Given the description of an element on the screen output the (x, y) to click on. 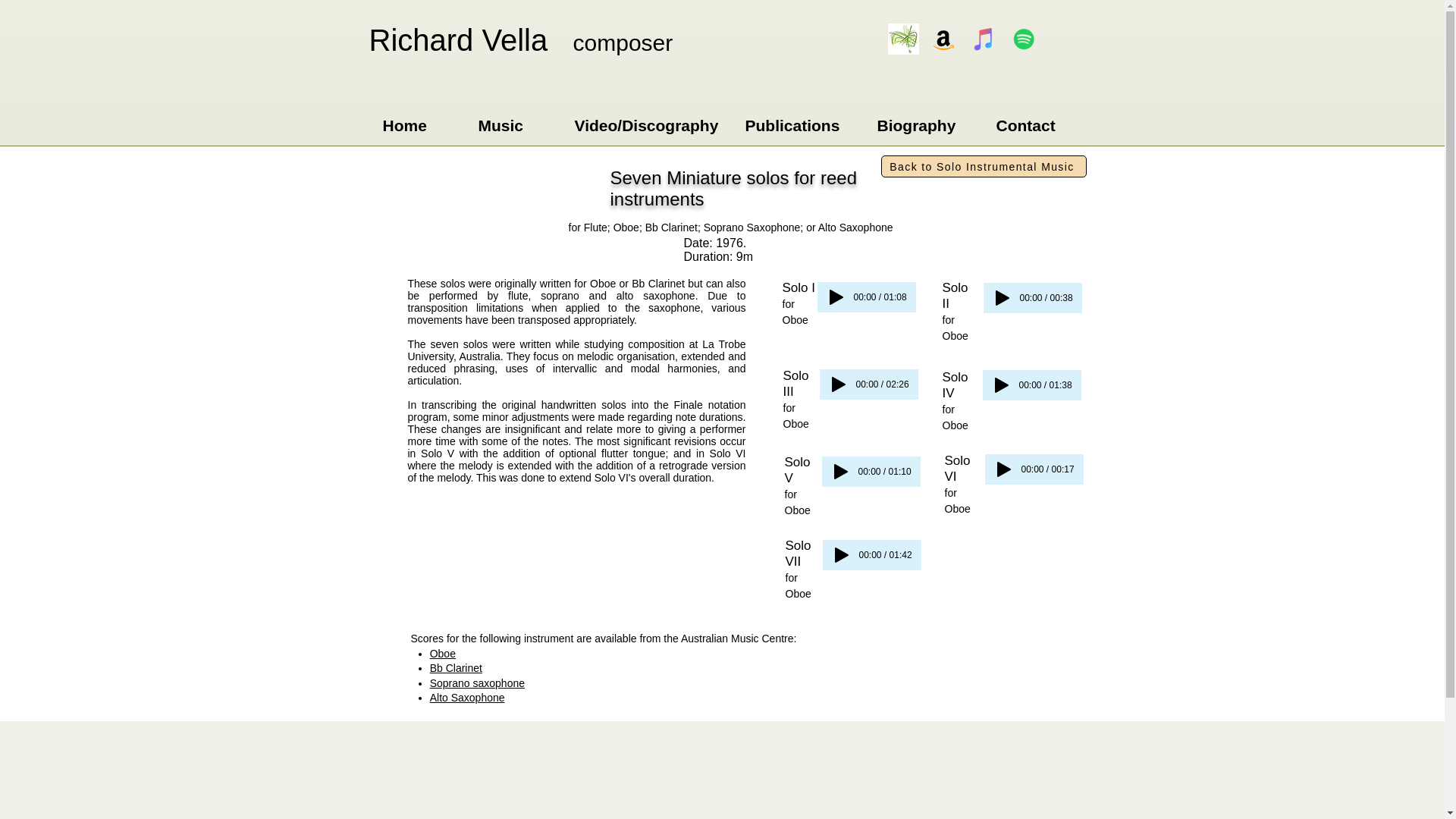
Back to Solo Instrumental Music (983, 166)
Music (515, 124)
Soprano saxophone (476, 683)
Home (419, 124)
Bb Clarinet (455, 667)
Alto Saxophone (467, 697)
Contact (1037, 124)
Publications (799, 124)
Oboe (442, 653)
Biography (925, 124)
